Given the description of an element on the screen output the (x, y) to click on. 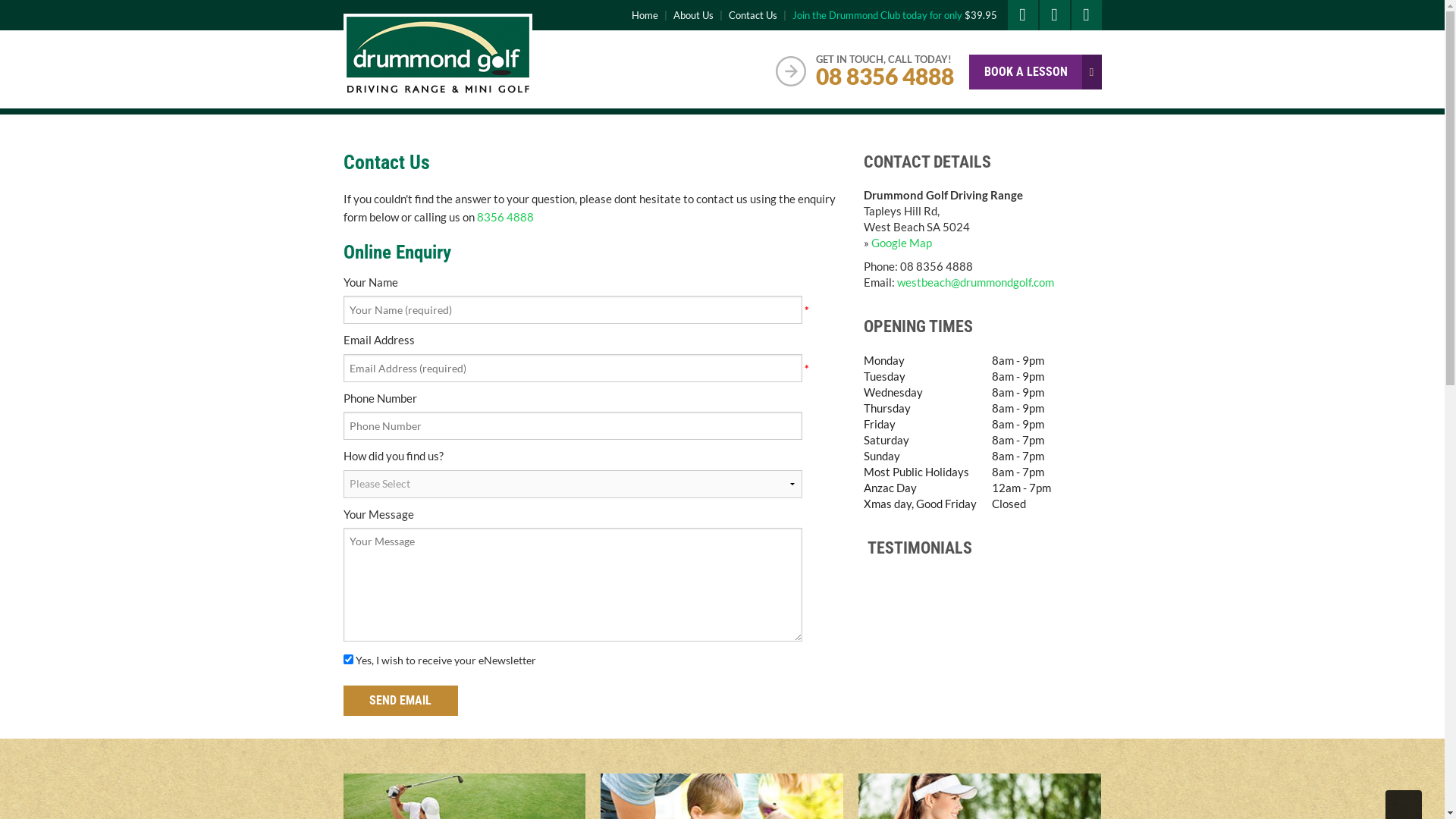
westbeach@drummondgolf.com Element type: text (975, 281)
GET IN TOUCH, CALL TODAY!
08 8356 4888 Element type: text (872, 70)
Google Map Element type: text (901, 242)
8356 4888 Element type: text (504, 216)
BOOK A LESSON Element type: text (1035, 71)
Send Email Element type: text (400, 700)
Join the Drummond Club today for only $39.95 Element type: text (893, 15)
About Us Element type: text (693, 15)
Contact Us Element type: text (752, 15)
Home Element type: text (643, 15)
